Given the description of an element on the screen output the (x, y) to click on. 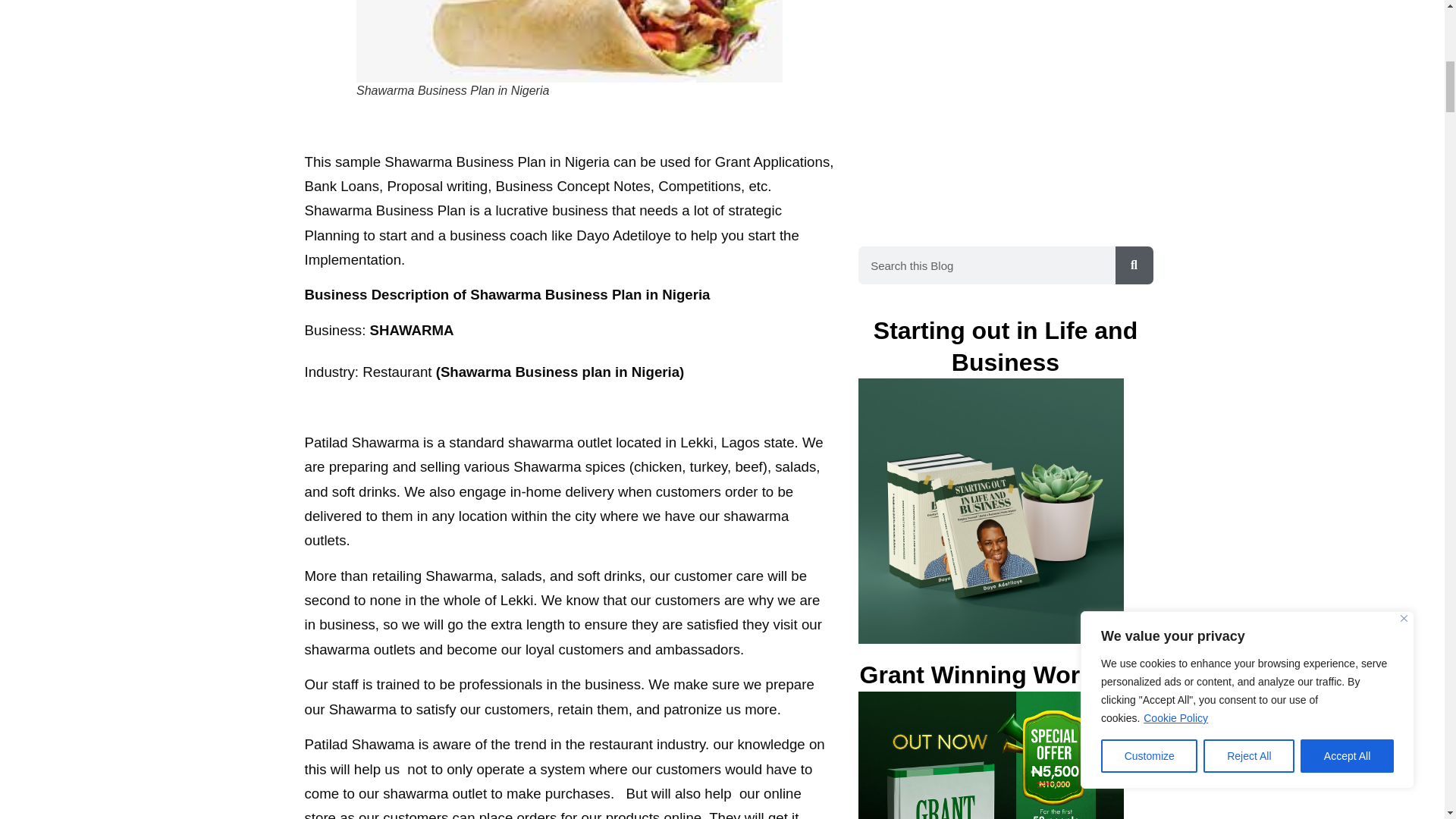
Advertisement (972, 112)
